Given the description of an element on the screen output the (x, y) to click on. 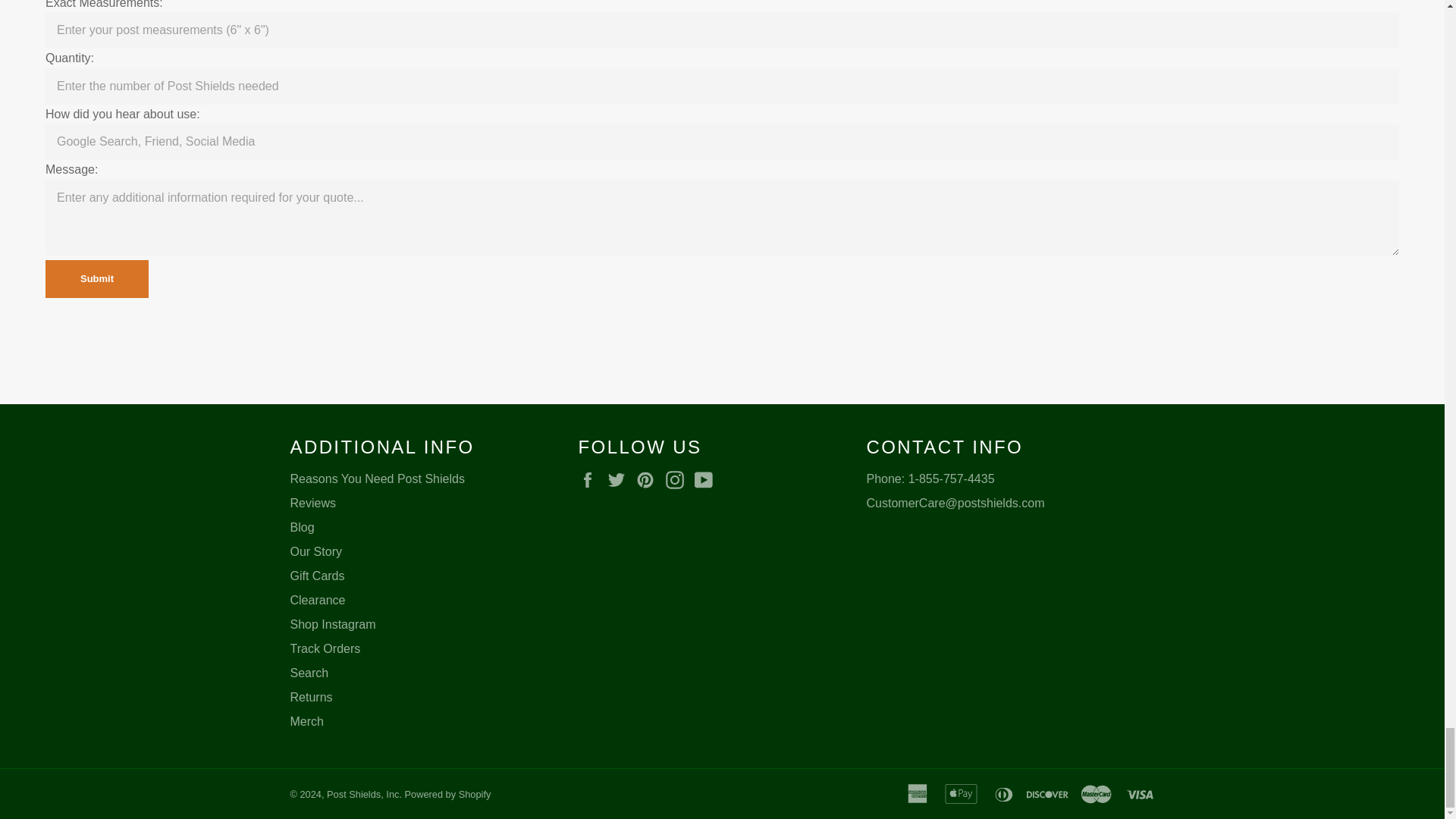
Gift Cards (316, 575)
Clearance (317, 599)
Post Shields, Inc on Pinterest (649, 479)
Post Shields, Inc on Twitter (620, 479)
Our Story (314, 551)
Reviews (311, 502)
Submit (96, 279)
Post Shields, Inc on Facebook (591, 479)
Reasons You Need Post Shields (376, 478)
Blog (301, 526)
Post Shields, Inc on YouTube (707, 479)
Post Shields, Inc on Instagram (678, 479)
Shop Instagram (332, 624)
Track Orders (324, 648)
Search (309, 672)
